Given the description of an element on the screen output the (x, y) to click on. 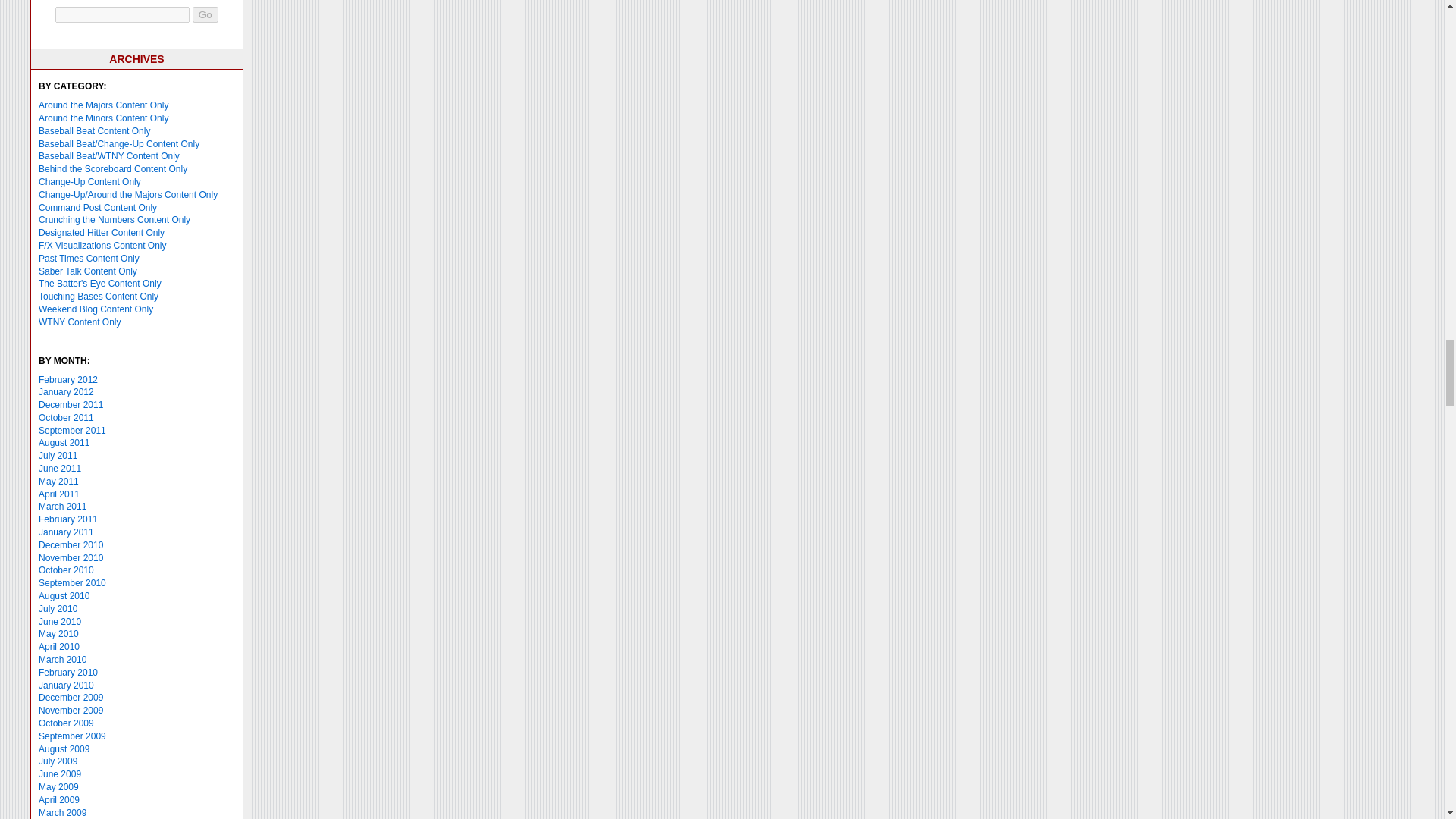
Go (205, 14)
